Given the description of an element on the screen output the (x, y) to click on. 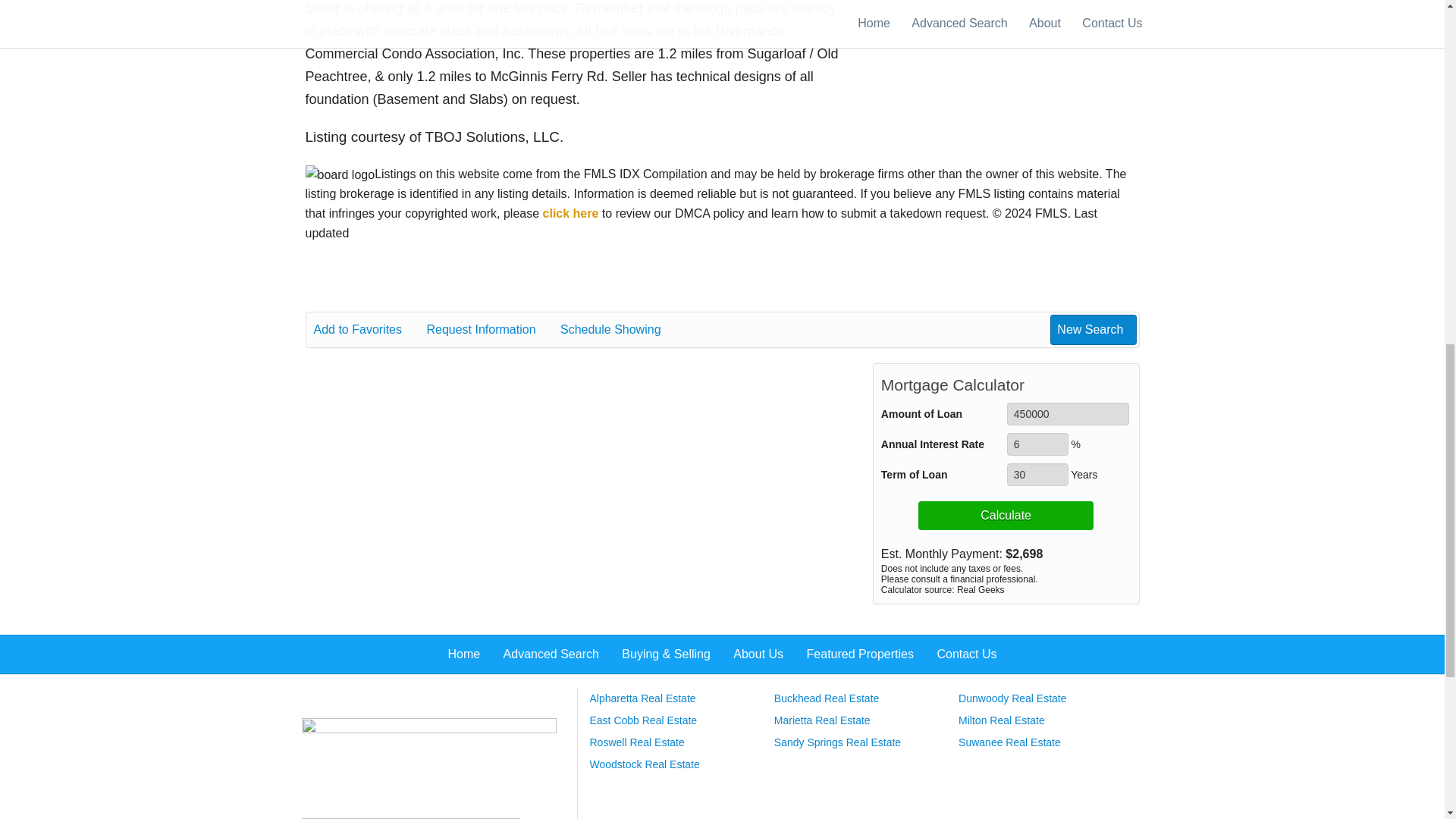
6 (1037, 444)
450000 (1068, 413)
Advanced Search (428, 759)
30 (1037, 474)
